Given the description of an element on the screen output the (x, y) to click on. 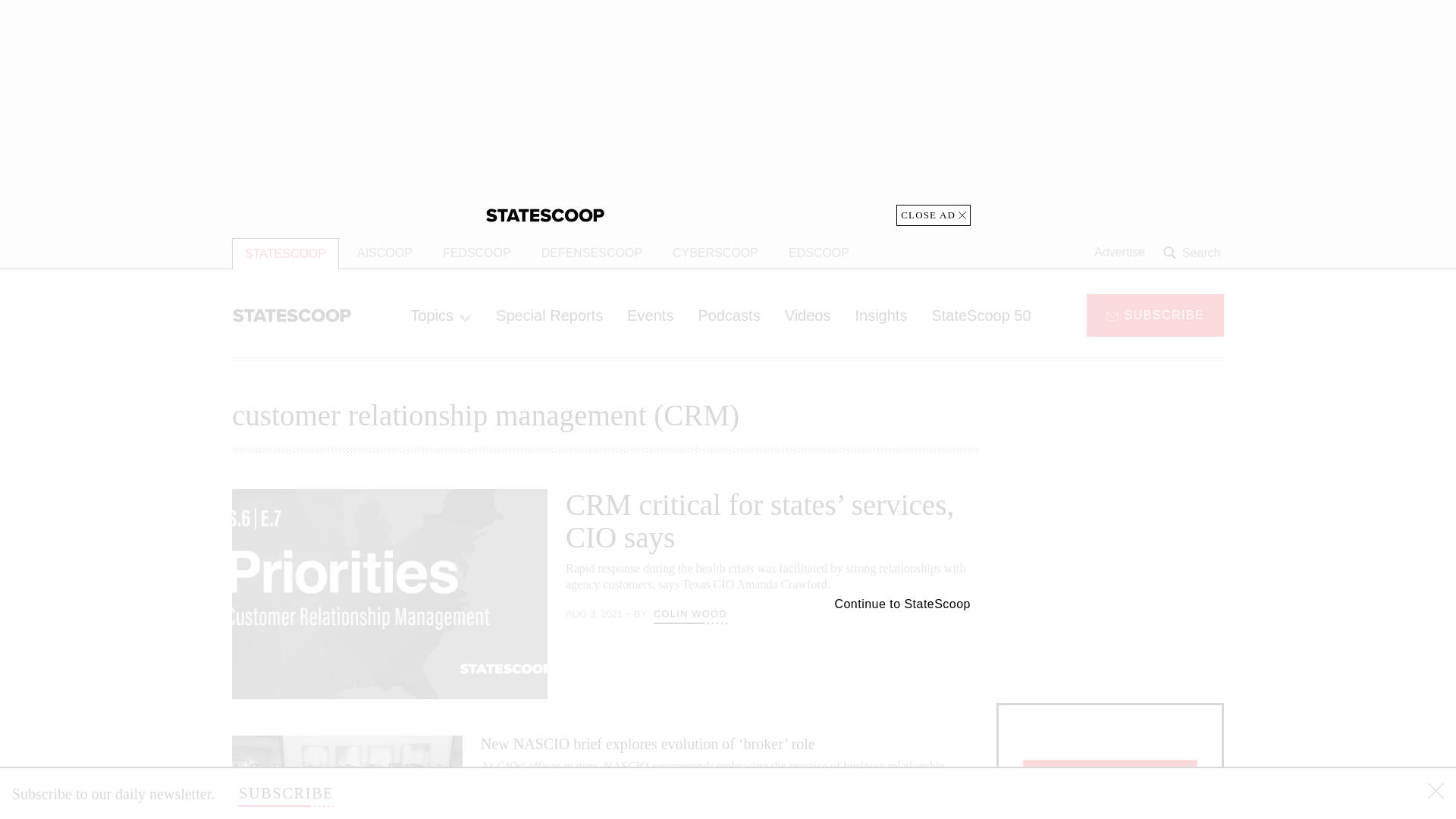
Events (649, 315)
CYBERSCOOP (715, 253)
DEFENSESCOOP (591, 253)
Podcasts (728, 315)
3rd party ad content (1109, 583)
EDSCOOP (818, 253)
Videos (808, 315)
Topics (440, 315)
STATESCOOP (285, 253)
